Given the description of an element on the screen output the (x, y) to click on. 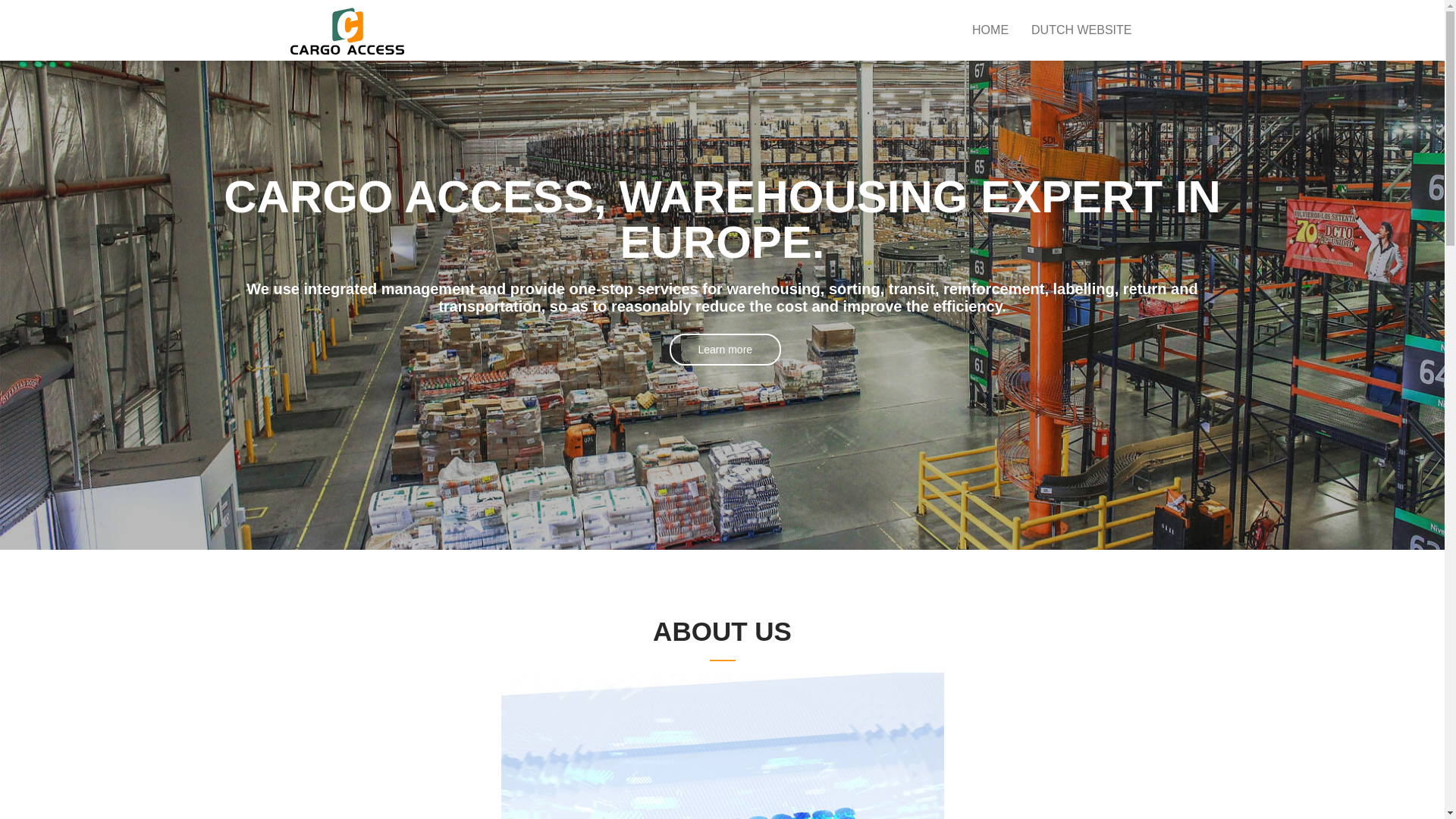
DUTCH WEBSITE Element type: text (1080, 30)
HOME Element type: text (989, 30)
Learn more Element type: text (724, 349)
